Given the description of an element on the screen output the (x, y) to click on. 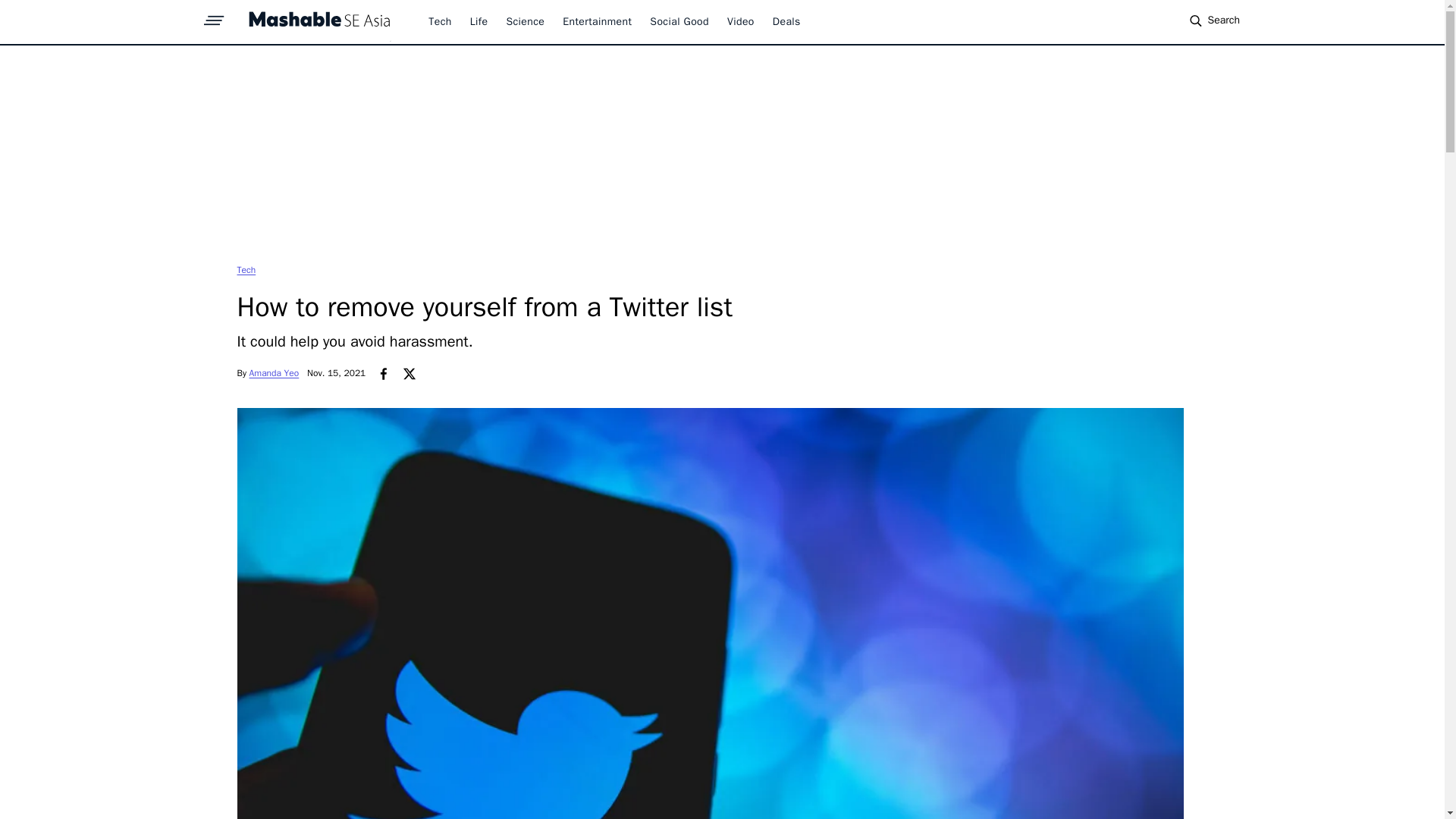
Tech (245, 269)
sprite-hamburger (213, 16)
Life (478, 21)
Deals (786, 21)
Entertainment (596, 21)
Tech (245, 269)
Tech (439, 21)
Social Good (679, 21)
Amanda Yeo (273, 372)
Science (524, 21)
